Given the description of an element on the screen output the (x, y) to click on. 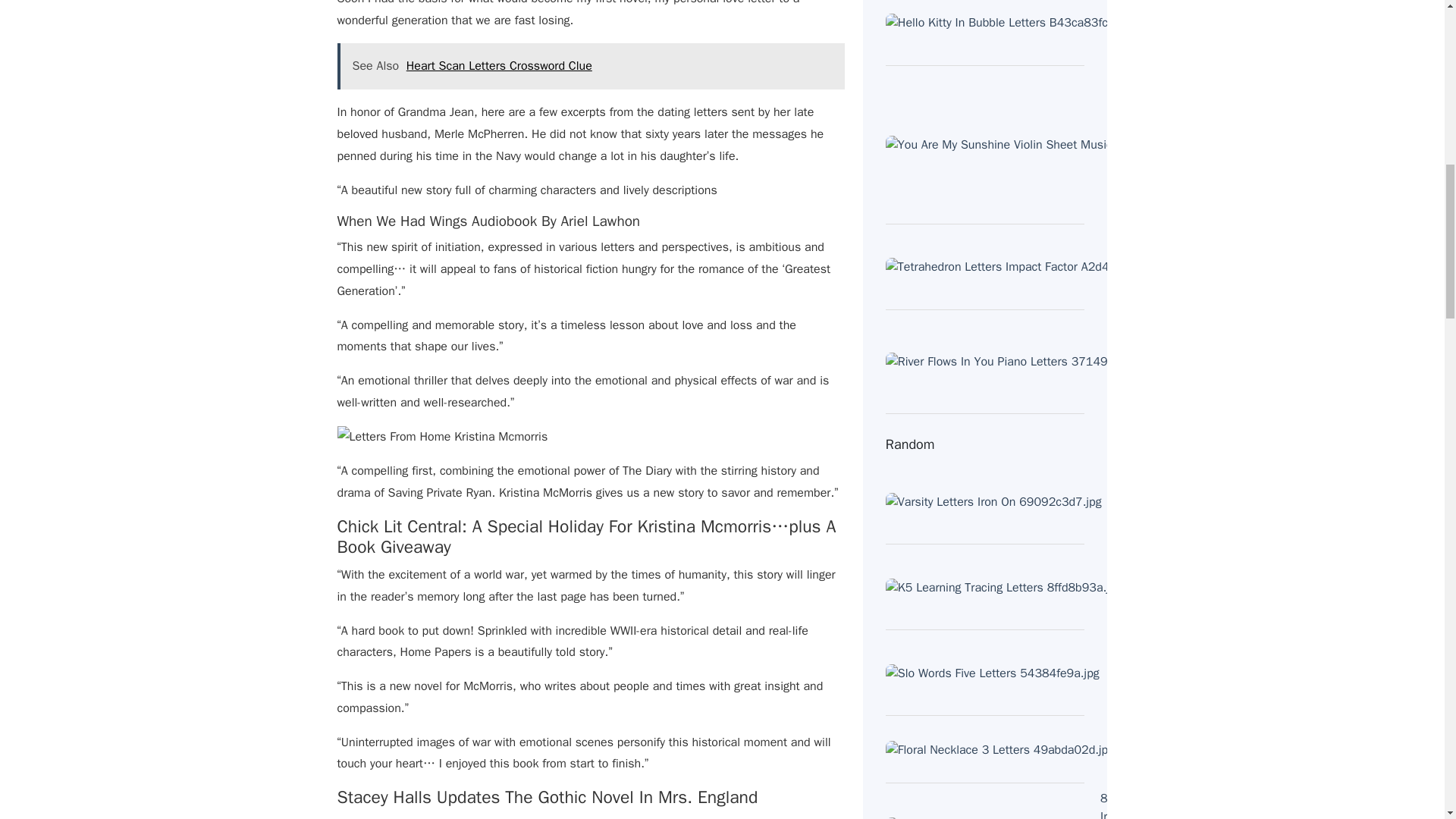
See Also  Heart Scan Letters Crossword Clue (590, 66)
Letters From Home Kristina Mcmorris (441, 436)
